Given the description of an element on the screen output the (x, y) to click on. 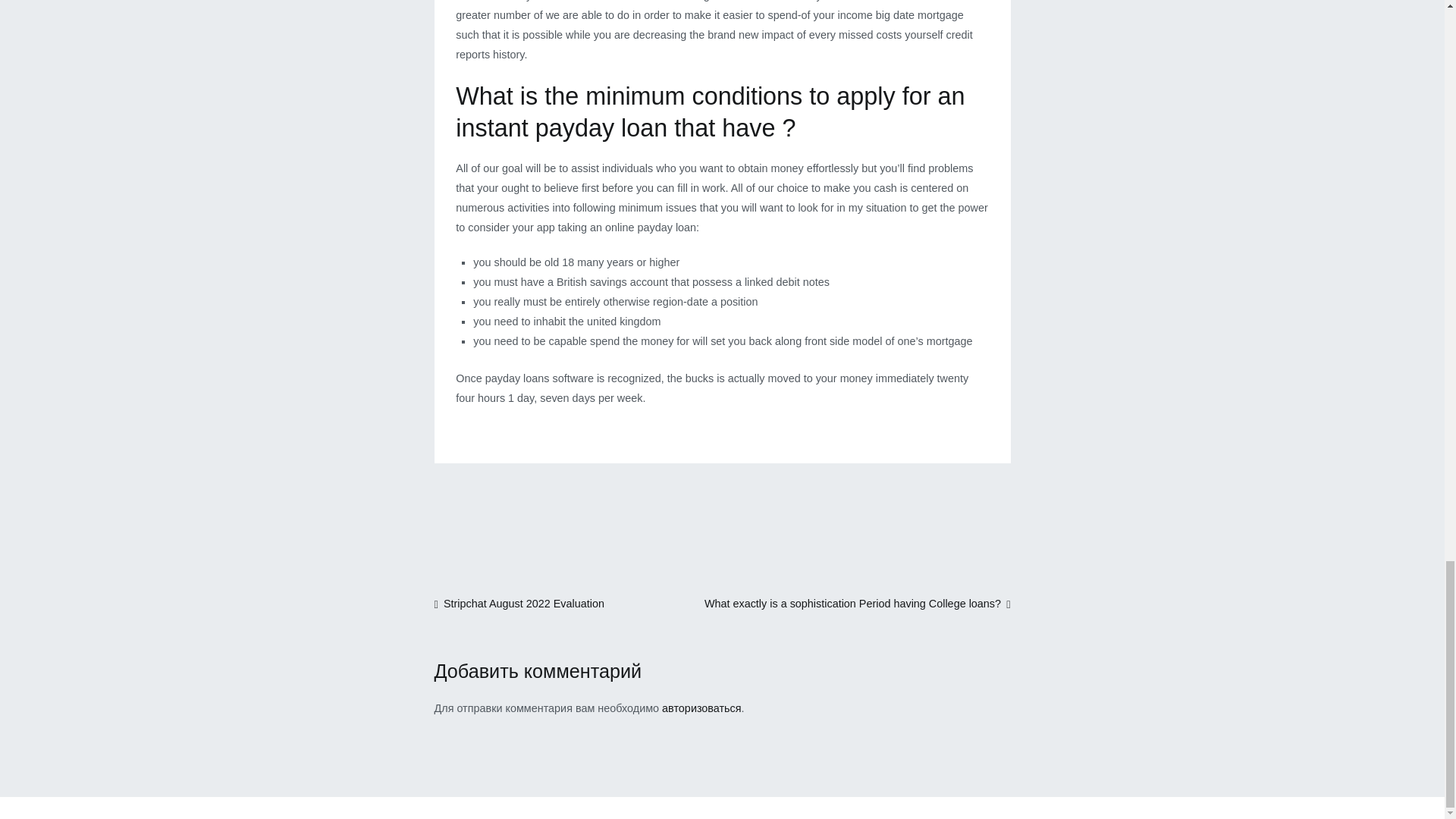
Stripchat August 2022 Evaluation (518, 603)
